Given the description of an element on the screen output the (x, y) to click on. 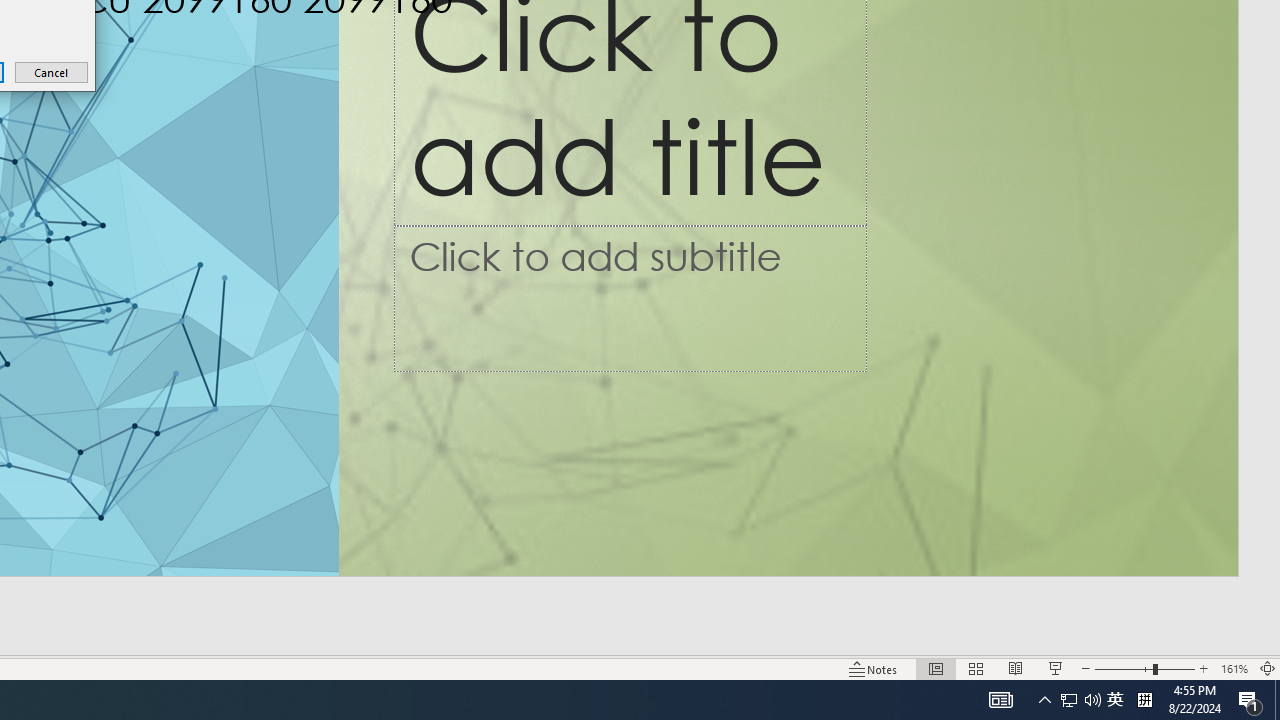
Zoom 161% (1234, 668)
Action Center, 1 new notification (1250, 699)
